Given the description of an element on the screen output the (x, y) to click on. 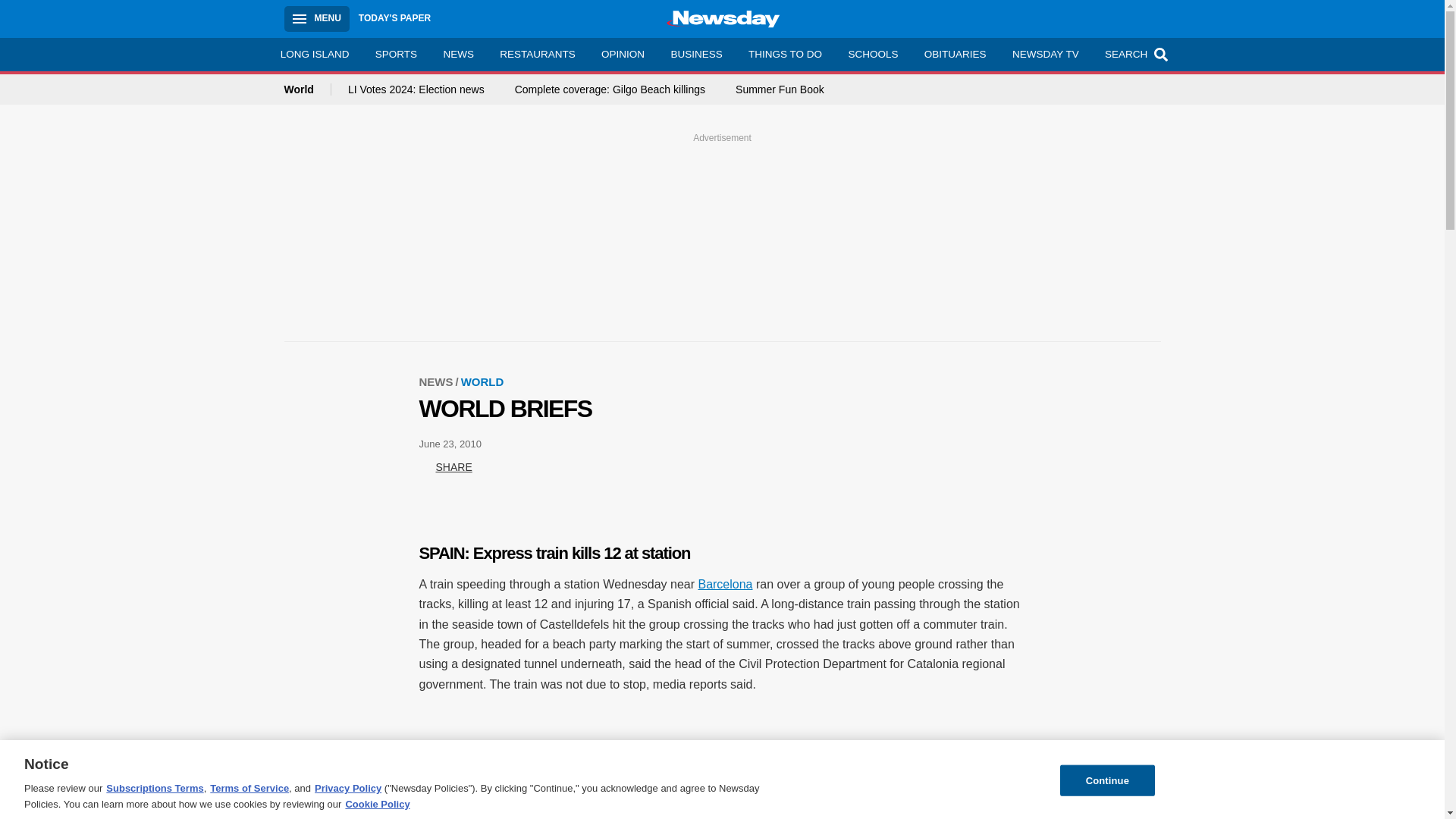
World (306, 89)
Coke (546, 805)
THINGS TO DO (784, 54)
SCHOOLS (872, 54)
SEARCH (1134, 54)
SHARE (445, 467)
TODAY'S PAPER (394, 18)
BUSINESS (696, 54)
MENU (316, 18)
OPINION (623, 54)
